Given the description of an element on the screen output the (x, y) to click on. 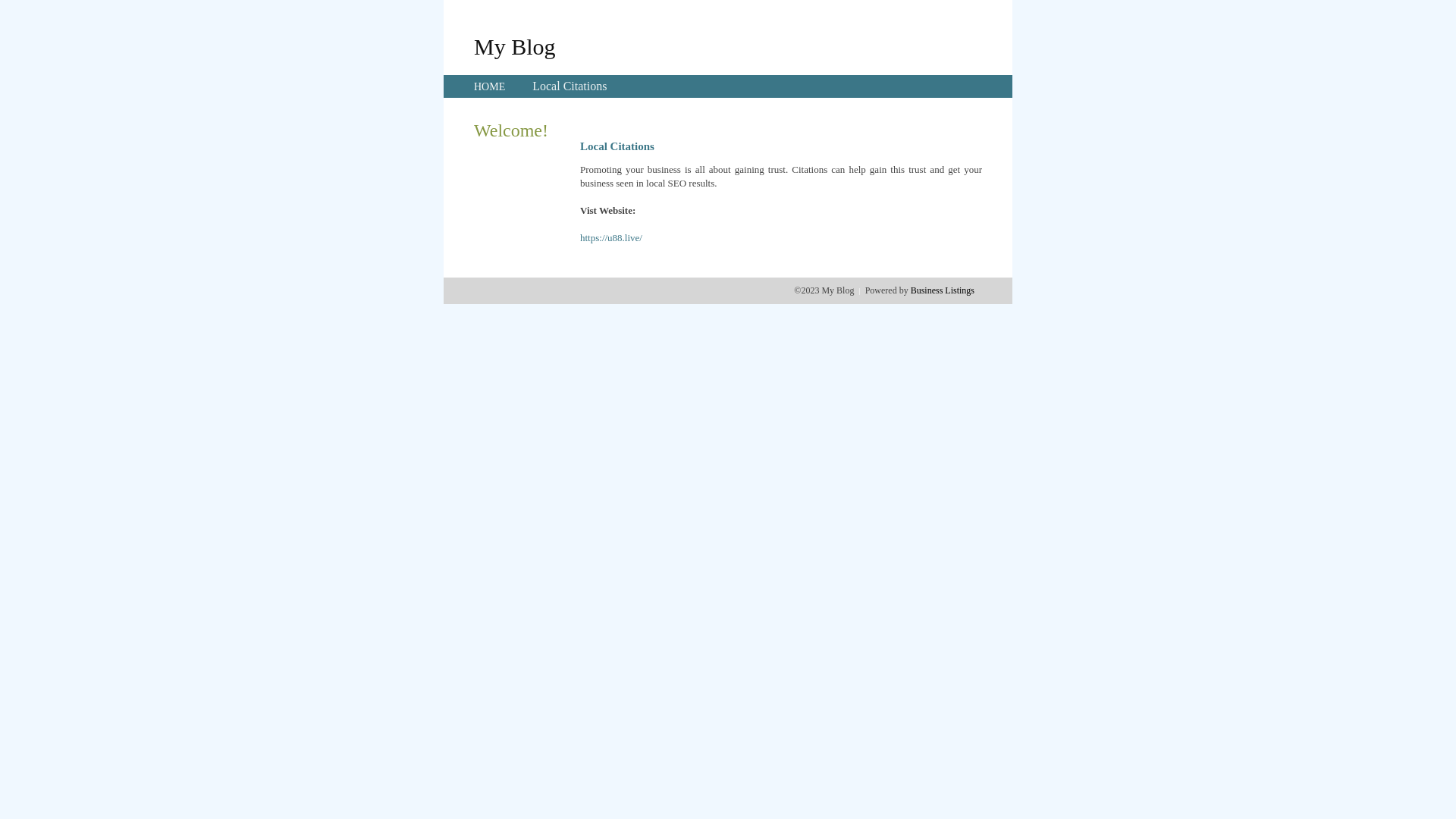
Local Citations Element type: text (569, 85)
HOME Element type: text (489, 86)
https://u88.live/ Element type: text (611, 237)
My Blog Element type: text (514, 46)
Business Listings Element type: text (942, 290)
